Given the description of an element on the screen output the (x, y) to click on. 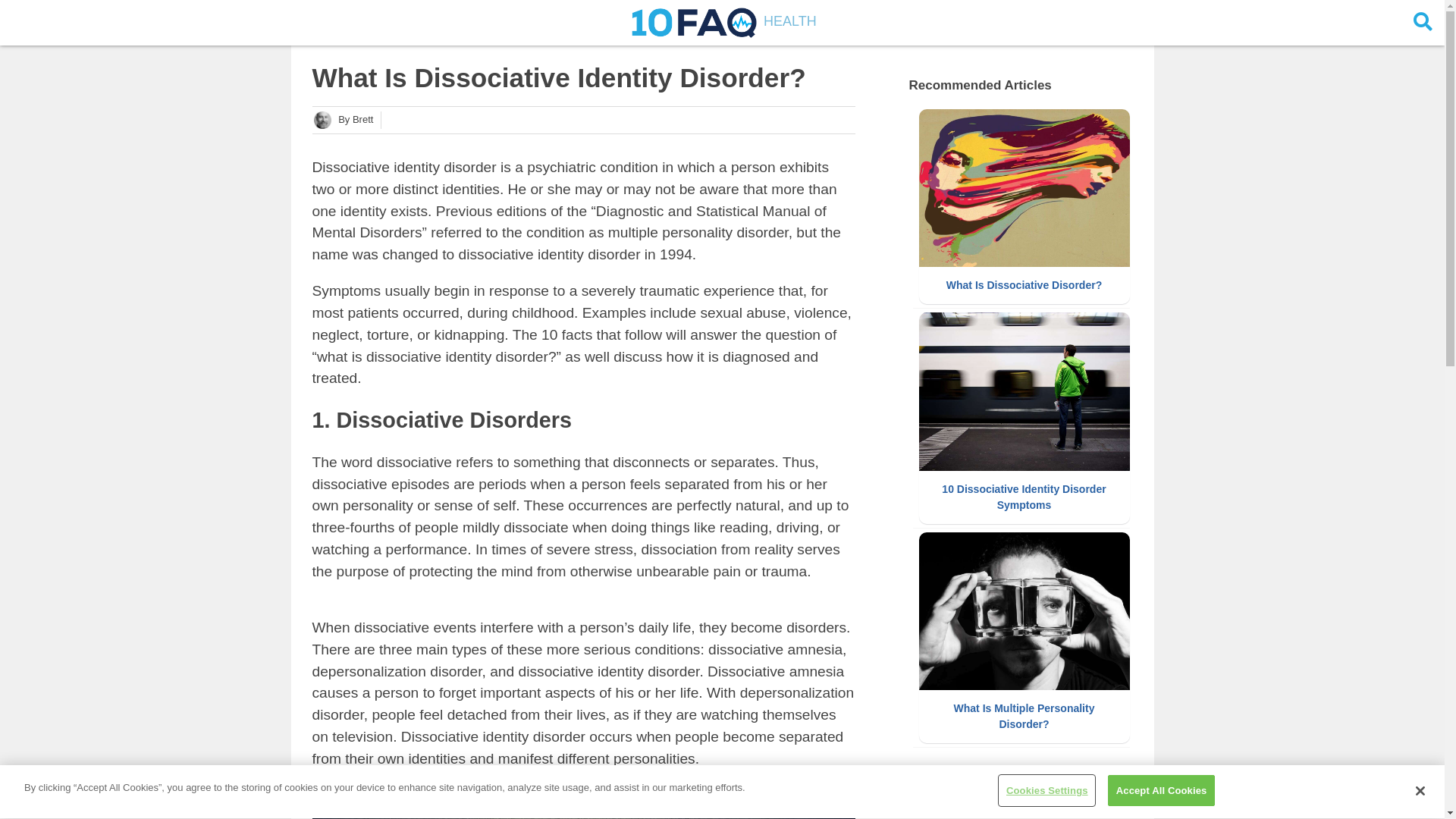
Accept All Cookies Element type: text (1161, 790)
What Is Dissociative Disorder? Element type: text (1024, 206)
10 Dissociative Identity Disorder Symptoms Element type: text (1024, 418)
HEALTH Element type: text (721, 21)
What Is Multiple Personality Disorder? Element type: text (1024, 637)
Cookies Settings Element type: text (1046, 790)
